Given the description of an element on the screen output the (x, y) to click on. 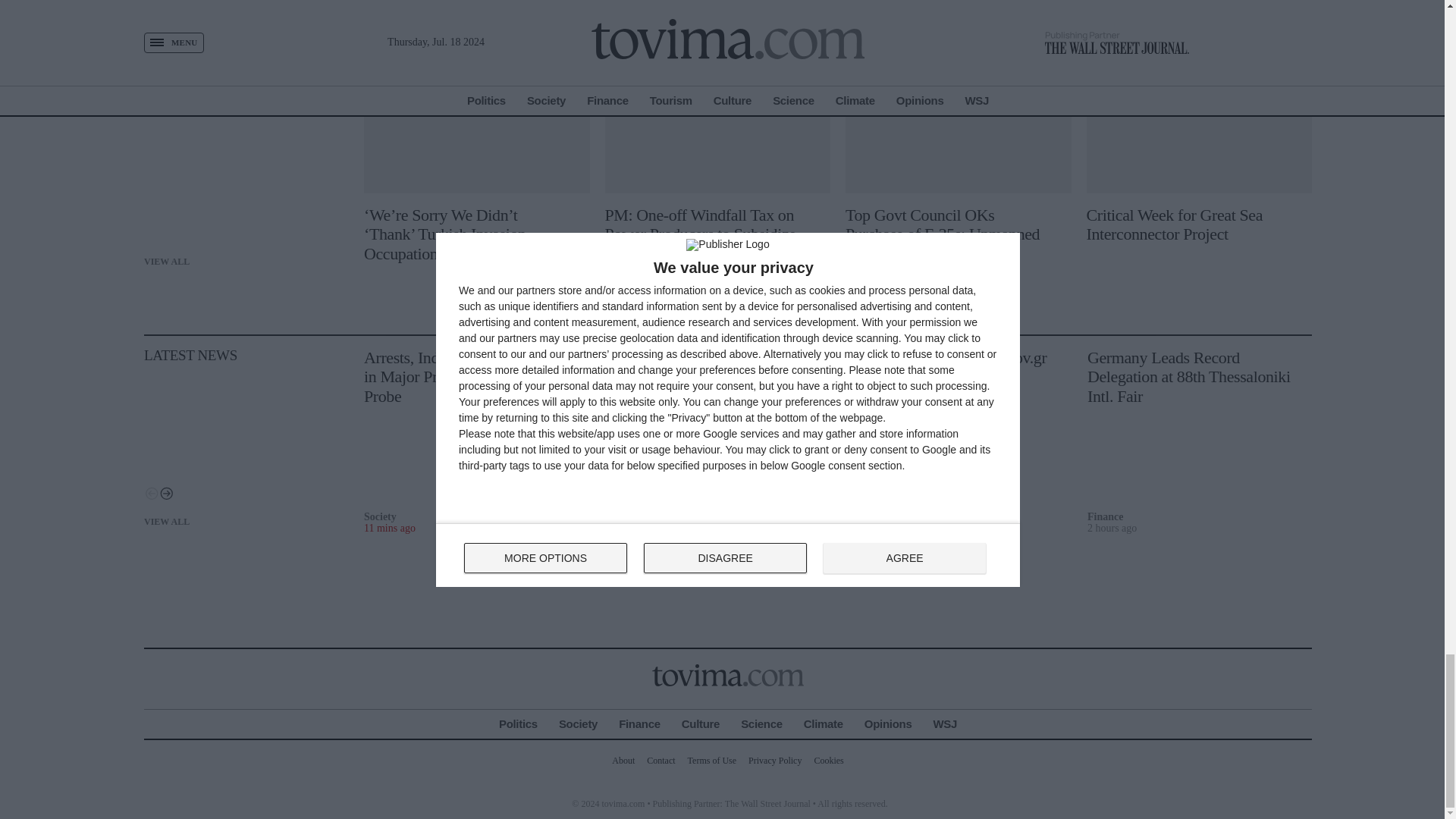
tovima.com (727, 675)
